Given the description of an element on the screen output the (x, y) to click on. 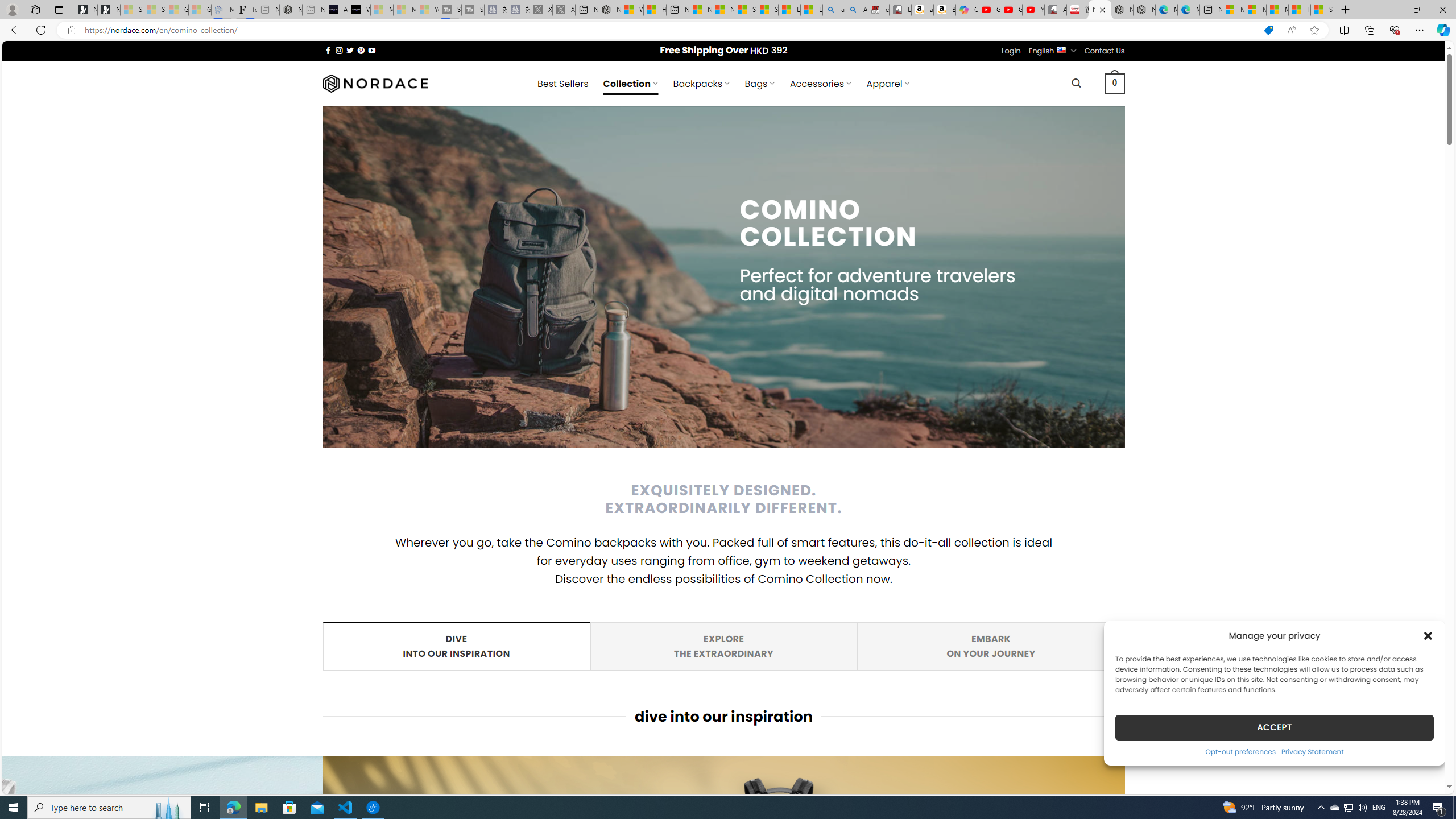
All Cubot phones (1055, 9)
Nordace - Comino Collection (1099, 9)
Nordace - #1 Japanese Best-Seller - Siena Smart Backpack (291, 9)
Privacy Statement (1312, 750)
Follow on Facebook (327, 49)
Nordace - Nordace has arrived Hong Kong (1144, 9)
X - Sleeping (563, 9)
This site has coupons! Shopping in Microsoft Edge (1268, 29)
Contact Us (1104, 50)
AI Voice Changer for PC and Mac - Voice.ai (336, 9)
